Given the description of an element on the screen output the (x, y) to click on. 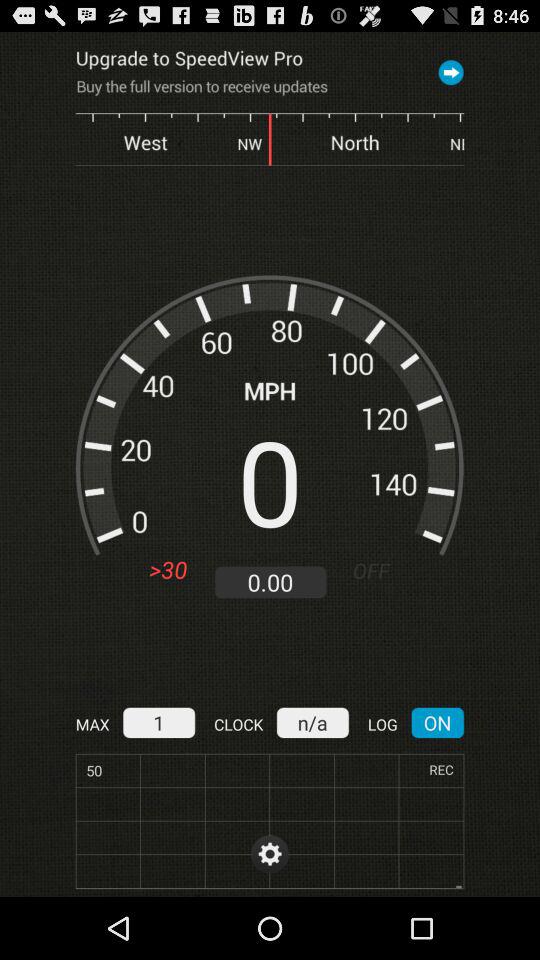
turn off icon next to clock icon (158, 722)
